Given the description of an element on the screen output the (x, y) to click on. 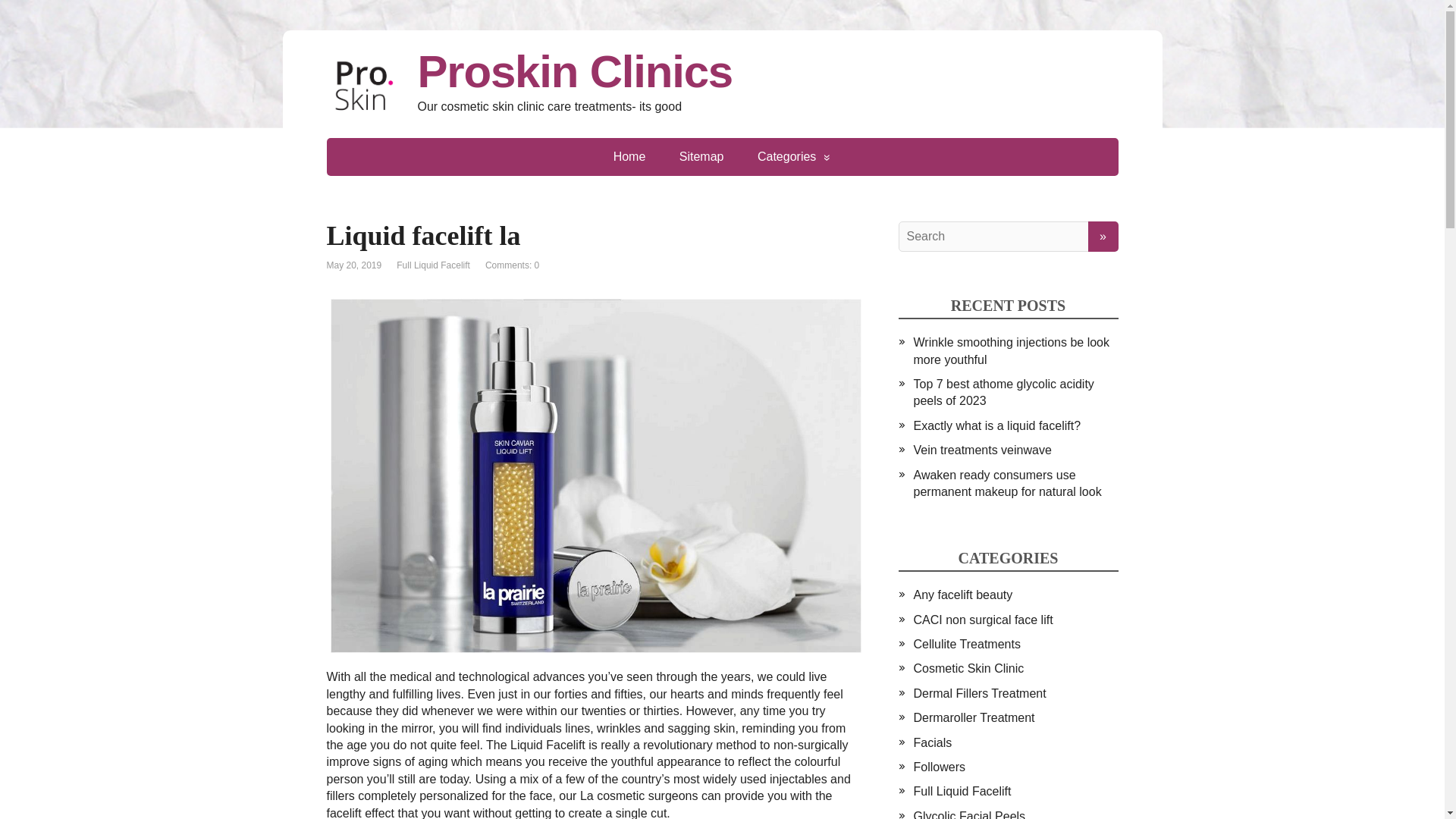
Categories (793, 157)
Full Liquid Facelift (433, 265)
Sitemap (701, 157)
Proskin Clinics (722, 71)
Comments: 0 (511, 265)
Home (629, 157)
